Given the description of an element on the screen output the (x, y) to click on. 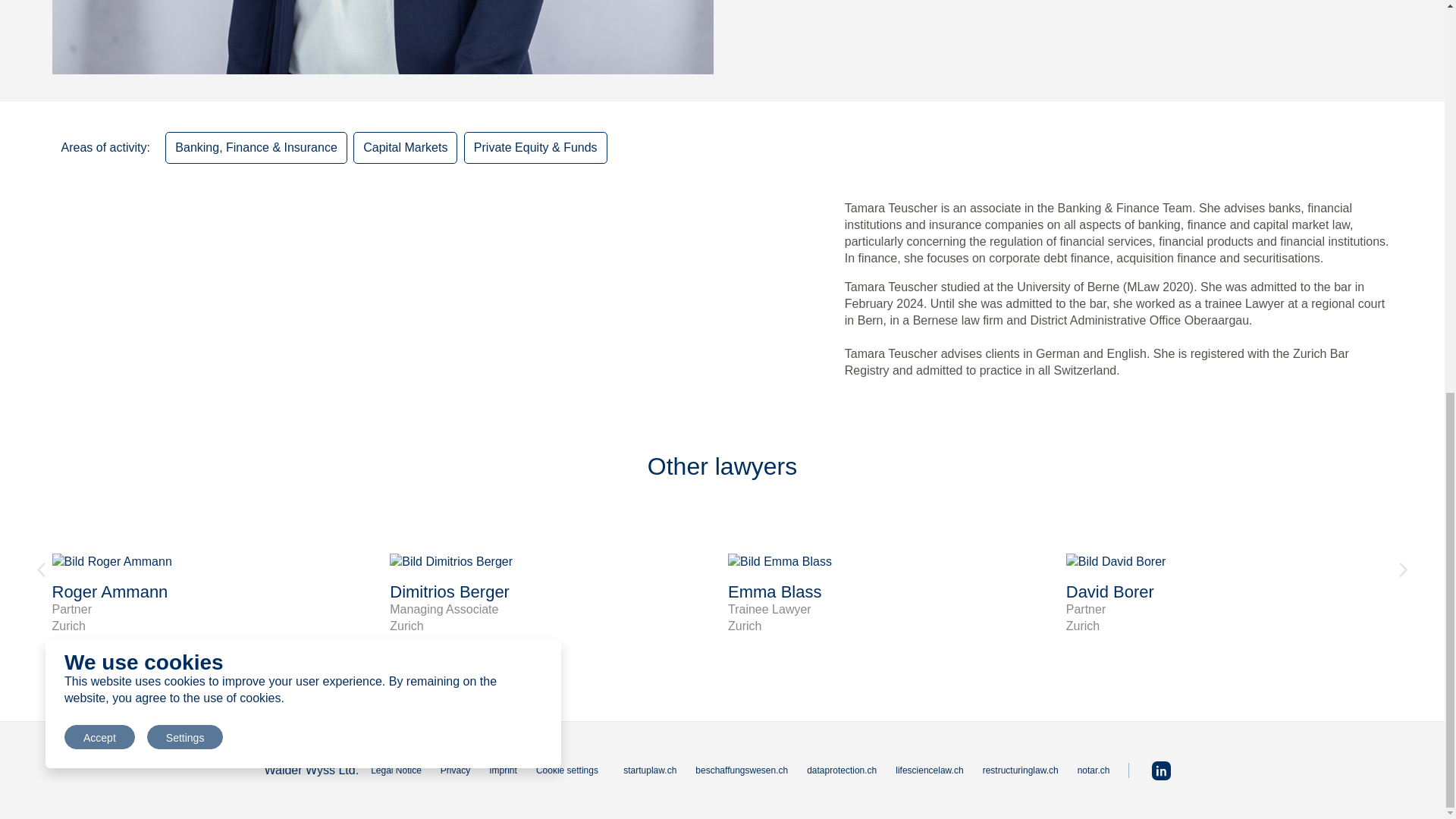
Capital Markets (405, 147)
